Given the description of an element on the screen output the (x, y) to click on. 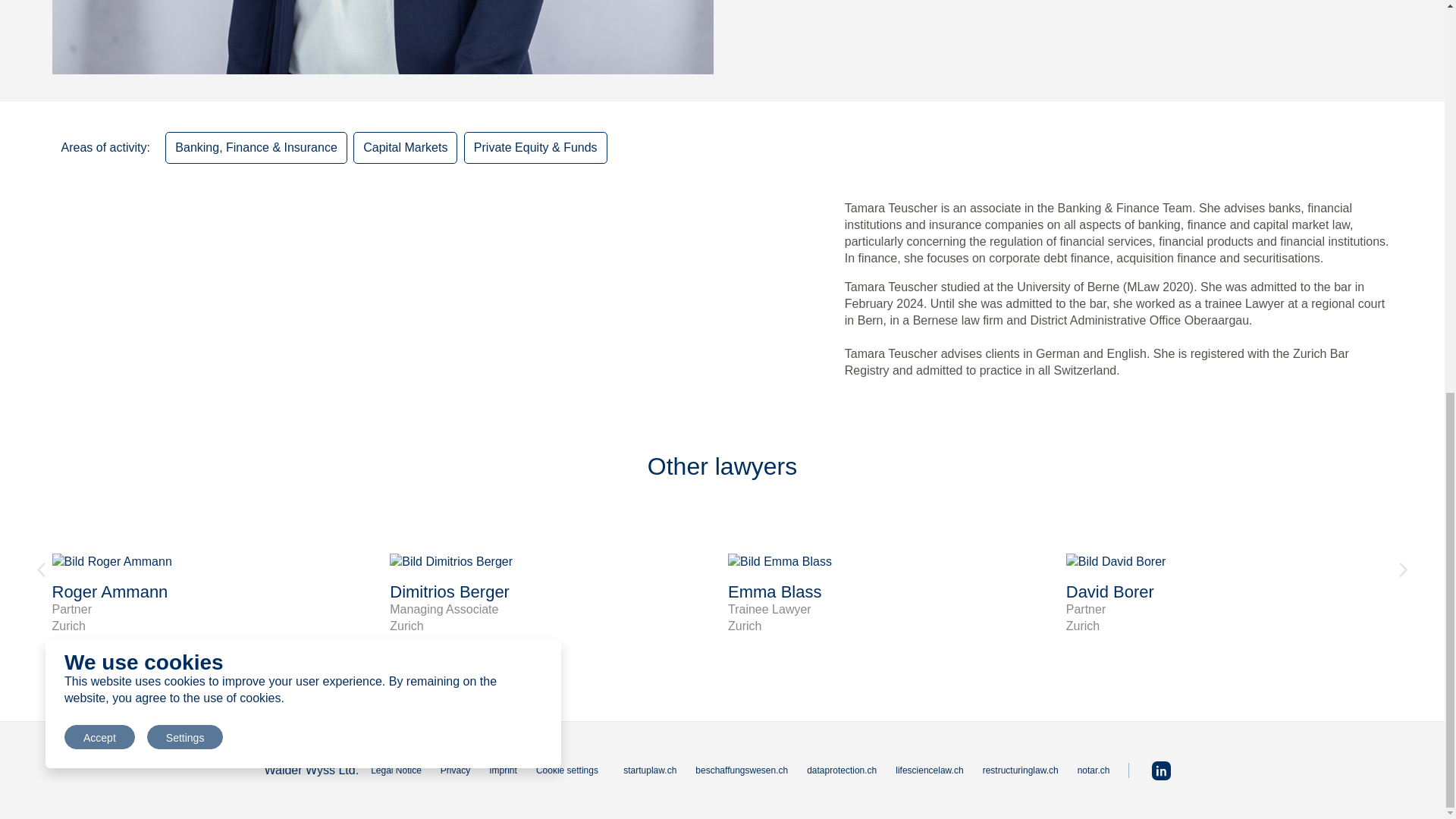
Capital Markets (405, 147)
